Given the description of an element on the screen output the (x, y) to click on. 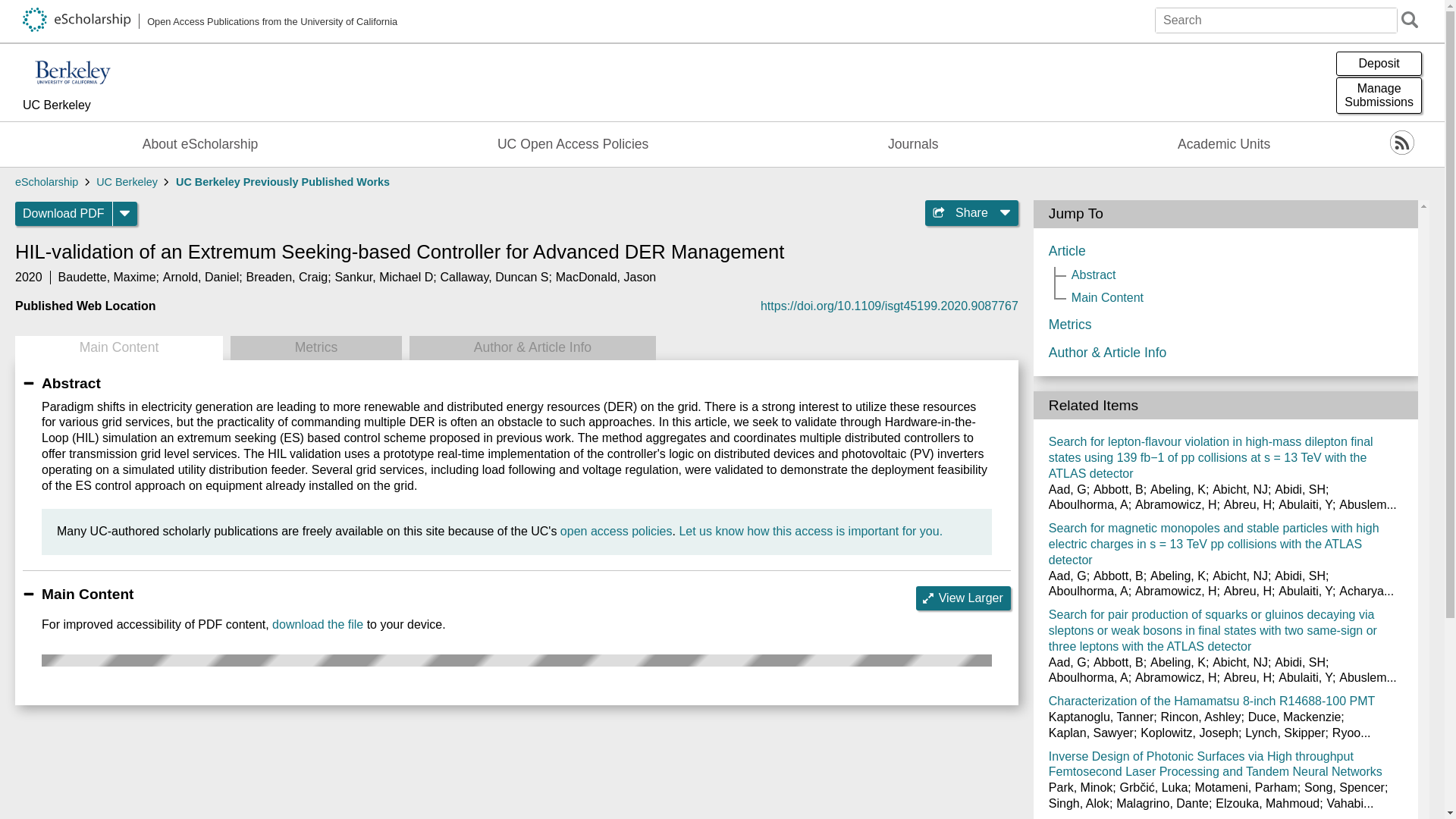
Sankur, Michael D (383, 277)
Metrics (315, 347)
Journals (913, 143)
Academic Units (1224, 143)
View Larger (962, 598)
Callaway, Duncan S (494, 277)
Main Content (118, 347)
UC Berkeley (1379, 94)
Let us know how this access is important for you. (89, 105)
Arnold, Daniel (810, 530)
download the file (201, 277)
UC Open Access Policies (317, 624)
MacDonald, Jason (572, 143)
Breaden, Craig (606, 277)
